Given the description of an element on the screen output the (x, y) to click on. 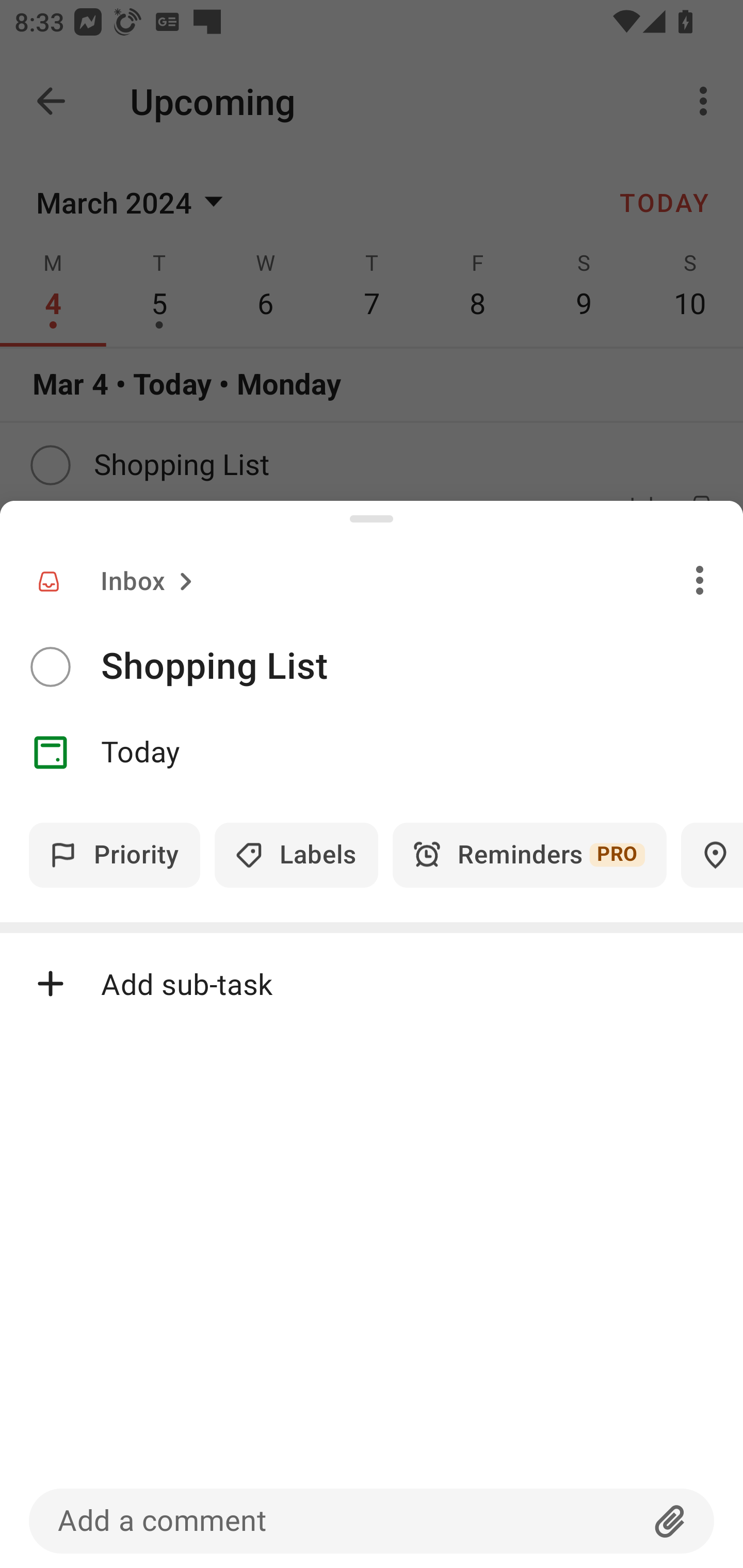
Overflow menu (699, 580)
Complete (50, 667)
Shopping List​ (422, 666)
Date Today (371, 752)
Priority (113, 855)
Labels (296, 855)
Reminders PRO (529, 855)
Locations PRO (712, 855)
Add sub-task (371, 983)
Add a comment Attachment (371, 1520)
Attachment (670, 1520)
